Given the description of an element on the screen output the (x, y) to click on. 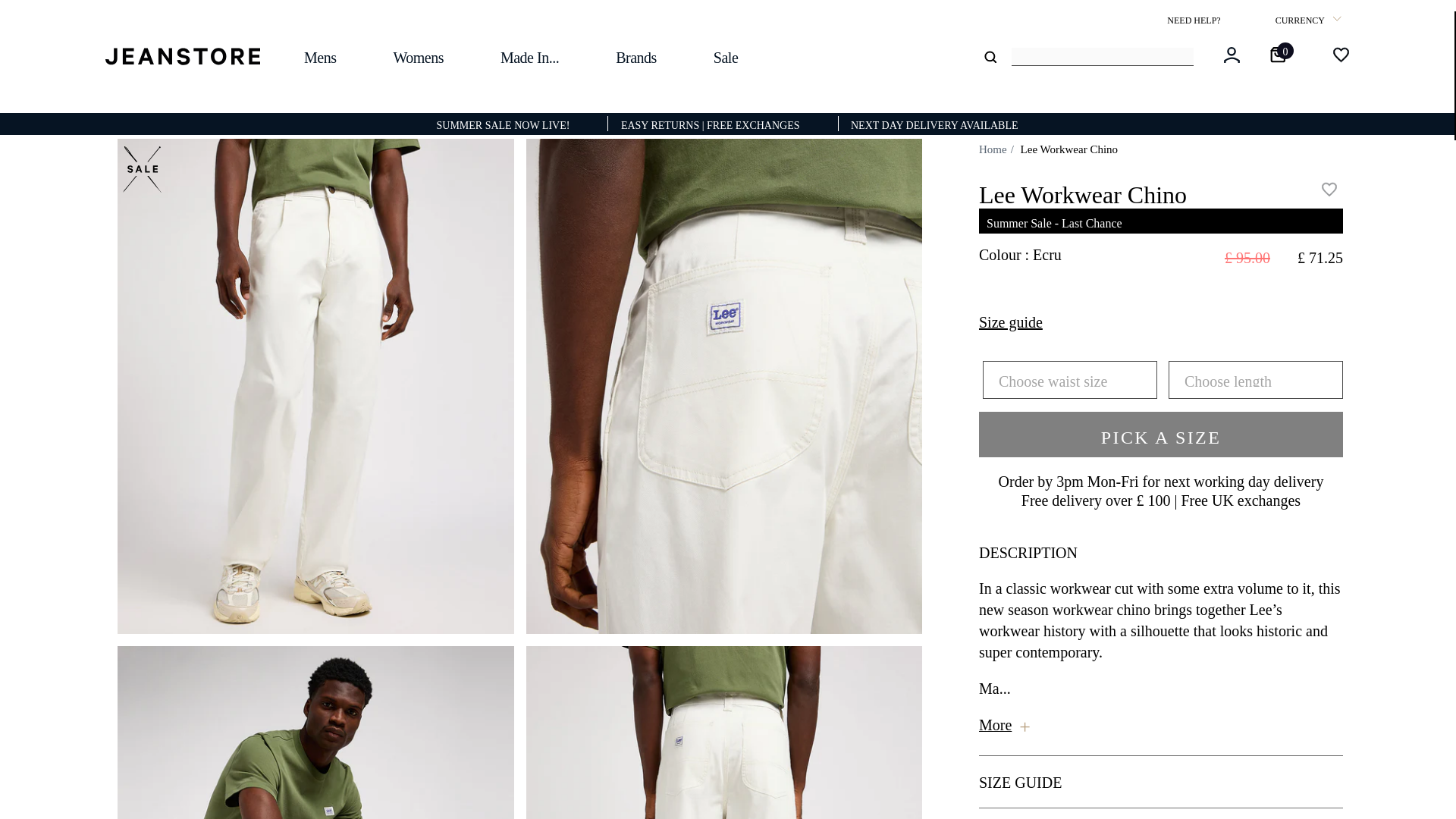
SUMMER SALE NOW LIVE! (502, 123)
CURRENCY (1312, 20)
NEXT DAY DELIVERY AVAILABLE (933, 123)
NEED HELP? (1195, 20)
